Given the description of an element on the screen output the (x, y) to click on. 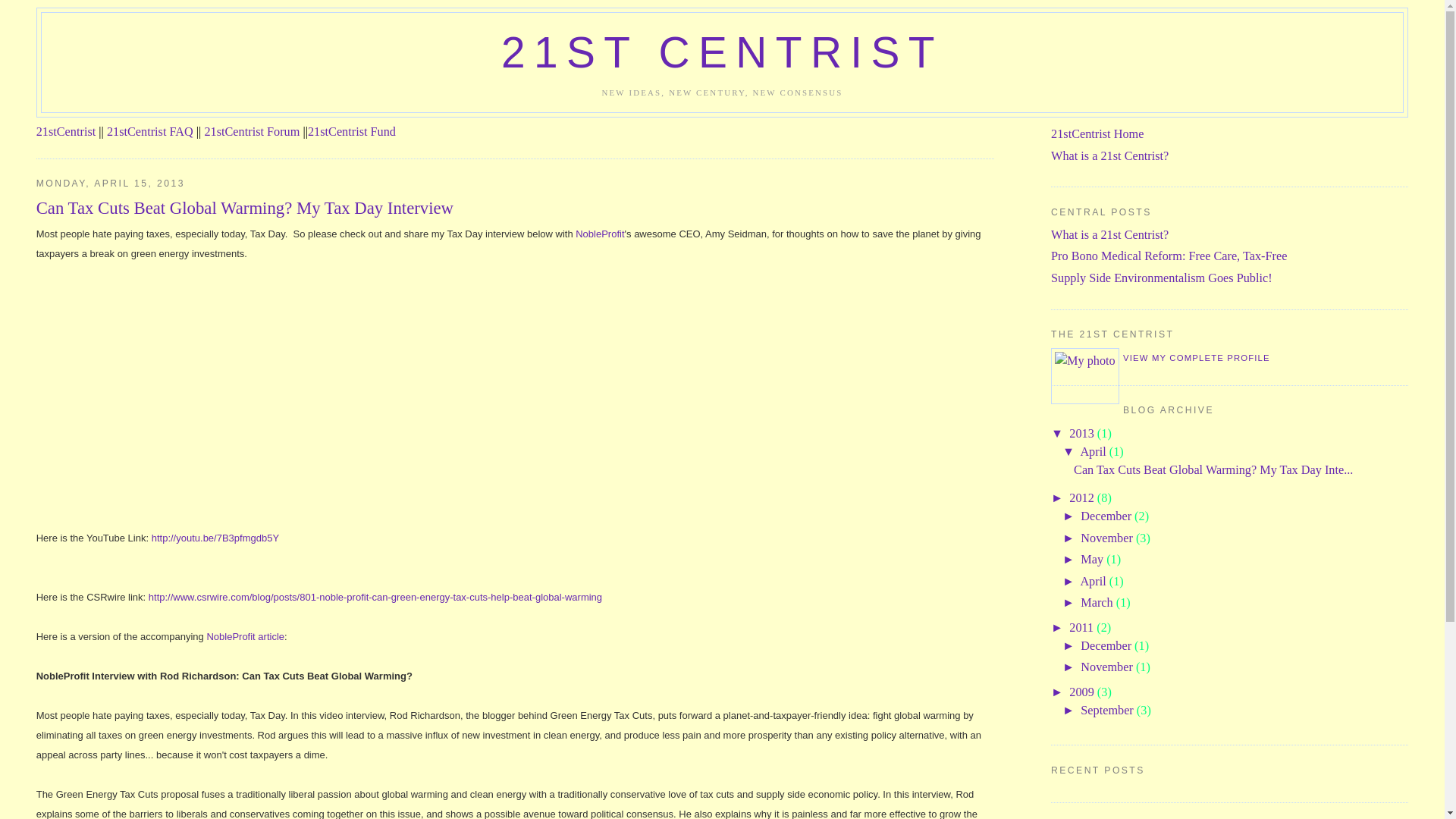
December Element type: text (1107, 645)
2009 Element type: text (1083, 692)
21ST CENTRIST Element type: text (722, 52)
September Element type: text (1108, 710)
21stCentrist Home Element type: text (1097, 134)
21stCentrist Forum Element type: text (251, 131)
VIEW MY COMPLETE PROFILE Element type: text (1196, 357)
November Element type: text (1107, 667)
April Element type: text (1093, 451)
2012 Element type: text (1083, 498)
2011 Element type: text (1082, 627)
March Element type: text (1097, 602)
21stCentrist Fund Element type: text (351, 131)
May Element type: text (1093, 559)
Can Tax Cuts Beat Global Warming? My Tax Day Interview Element type: text (515, 208)
December Element type: text (1107, 516)
November Element type: text (1107, 538)
21stCentrist FAQ Element type: text (149, 131)
April Element type: text (1093, 581)
http://youtu.be/7B3pfmgdb5Y Element type: text (215, 537)
What is a 21st Centrist? Element type: text (1109, 234)
2013 Element type: text (1083, 433)
Pro Bono Medical Reform: Free Care, Tax-Free Element type: text (1168, 256)
NobleProfit article Element type: text (245, 636)
Can Tax Cuts Beat Global Warming? My Tax Day Inte... Element type: text (1212, 469)
21stCentrist Element type: text (66, 131)
What is a 21st Centrist? Element type: text (1109, 156)
NobleProfit Element type: text (599, 233)
Supply Side Environmentalism Goes Public! Element type: text (1161, 278)
